Given the description of an element on the screen output the (x, y) to click on. 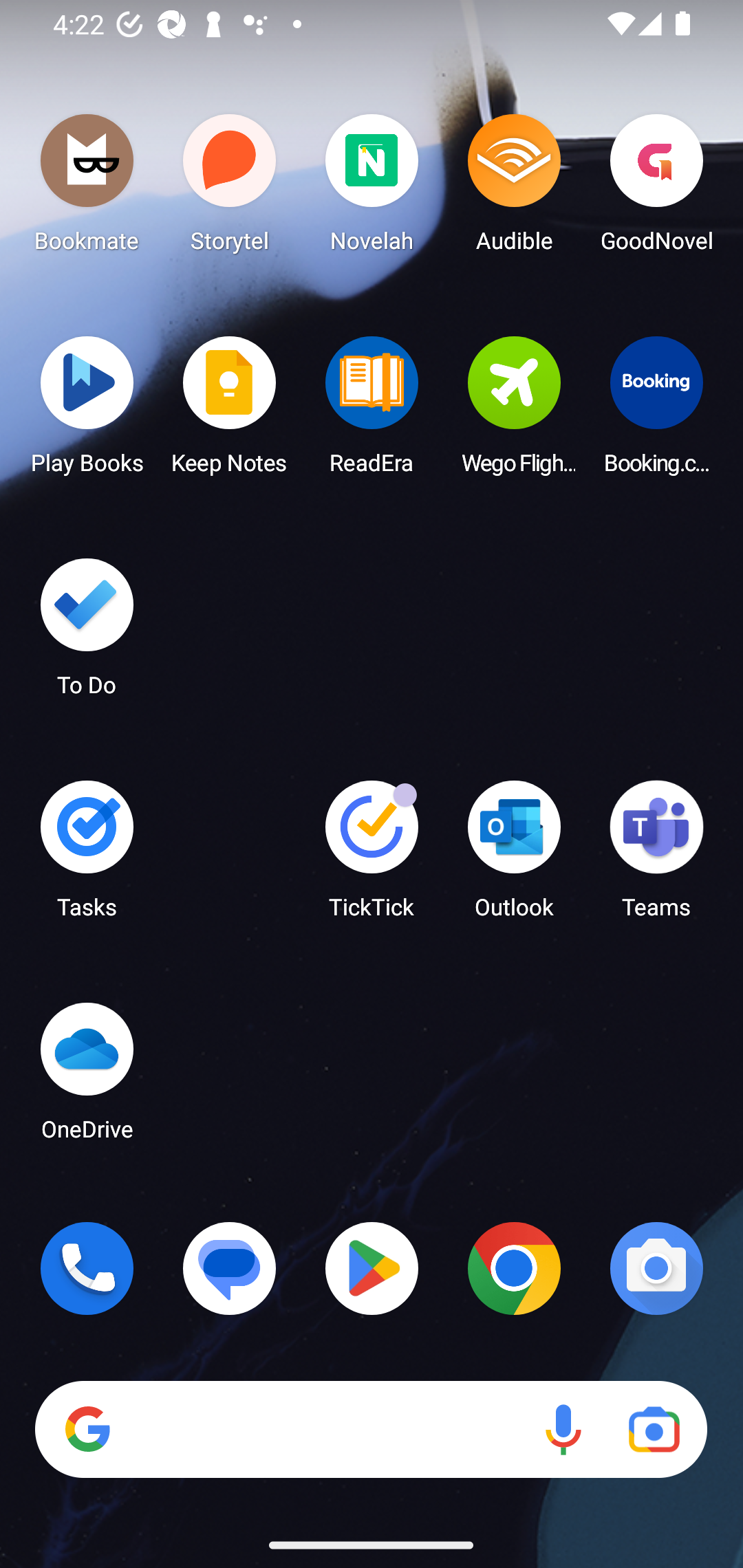
Bookmate (86, 188)
Storytel (229, 188)
Novelah (371, 188)
Audible (513, 188)
GoodNovel (656, 188)
Play Books (86, 410)
Keep Notes (229, 410)
ReadEra (371, 410)
Wego Flights & Hotels (513, 410)
Booking.com (656, 410)
To Do (86, 633)
Tasks (86, 854)
TickTick TickTick has 3 notifications (371, 854)
Outlook (513, 854)
Teams (656, 854)
OneDrive (86, 1076)
Phone (86, 1268)
Messages (229, 1268)
Play Store (371, 1268)
Chrome (513, 1268)
Camera (656, 1268)
Voice search (562, 1429)
Google Lens (653, 1429)
